Given the description of an element on the screen output the (x, y) to click on. 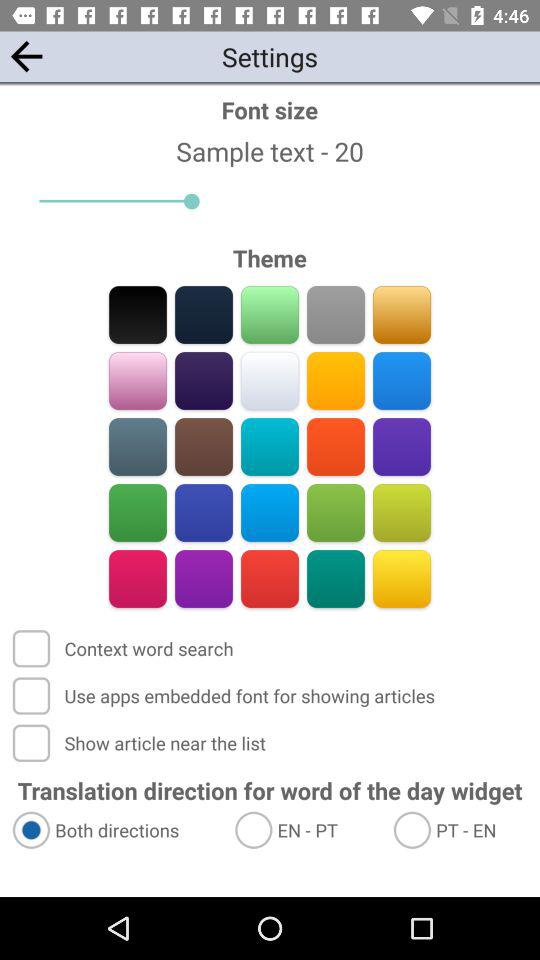
go do couler (203, 578)
